Given the description of an element on the screen output the (x, y) to click on. 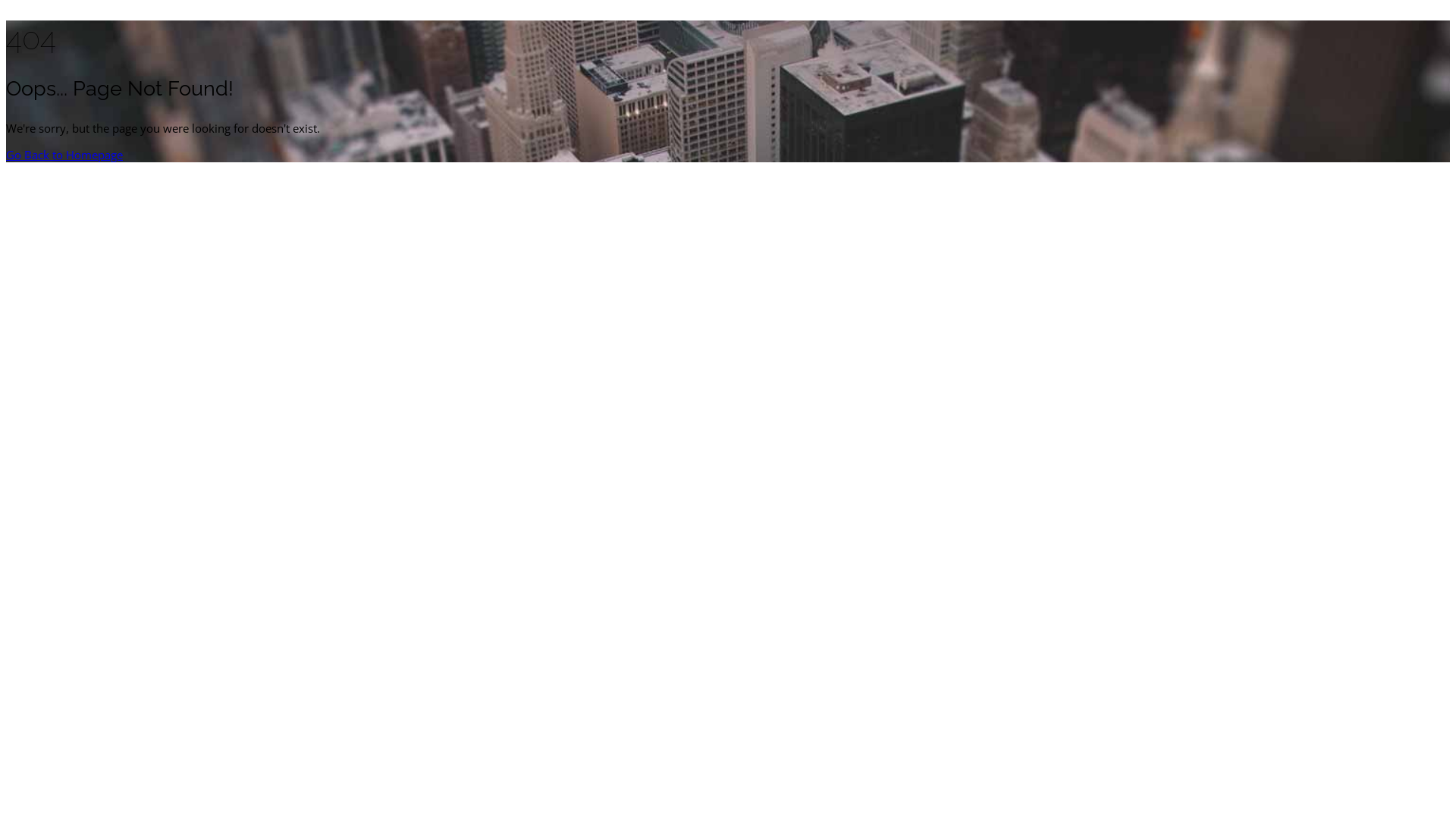
Go Back to Homepage Element type: text (64, 154)
